Given the description of an element on the screen output the (x, y) to click on. 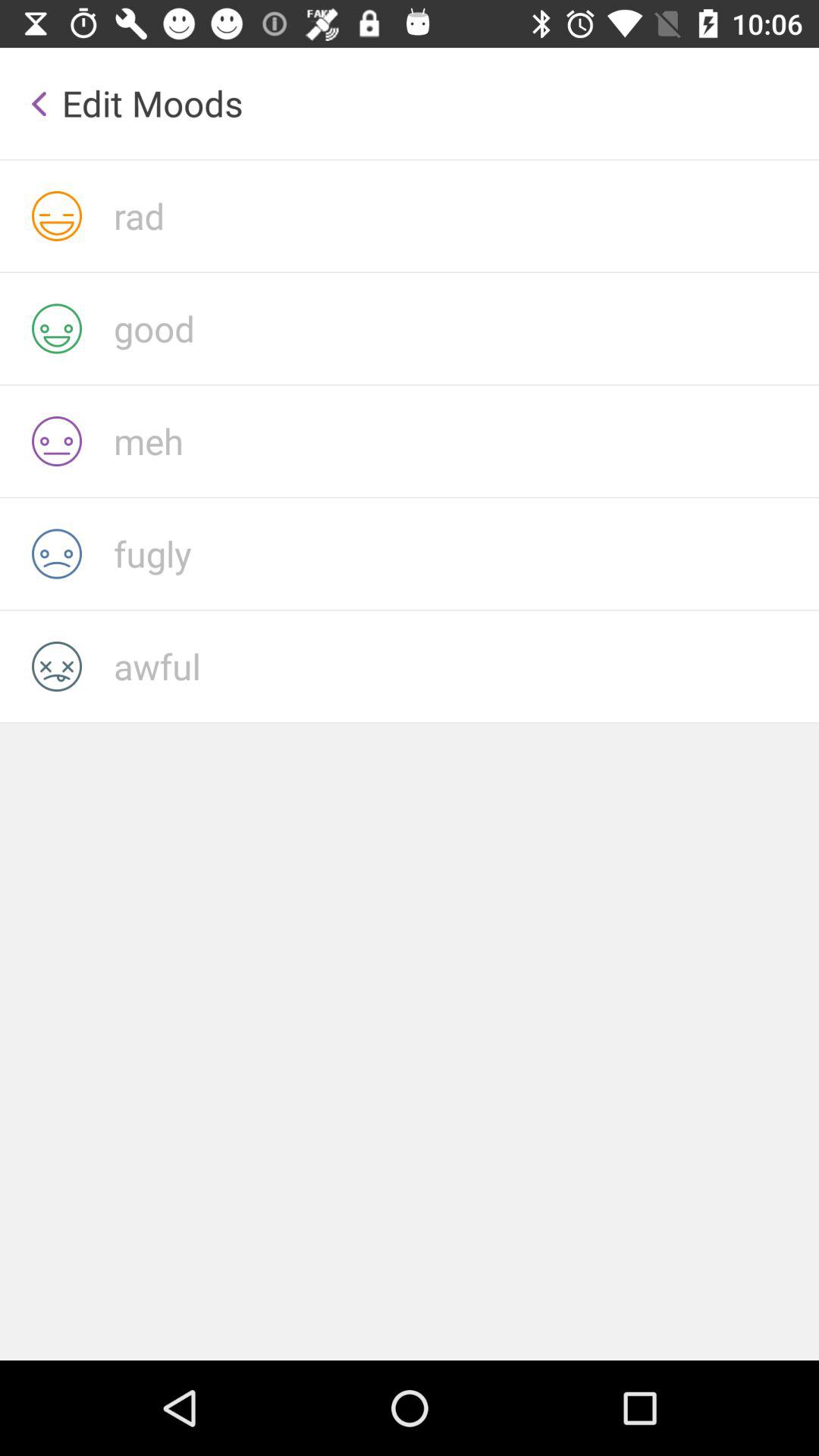
click awful (466, 666)
